Given the description of an element on the screen output the (x, y) to click on. 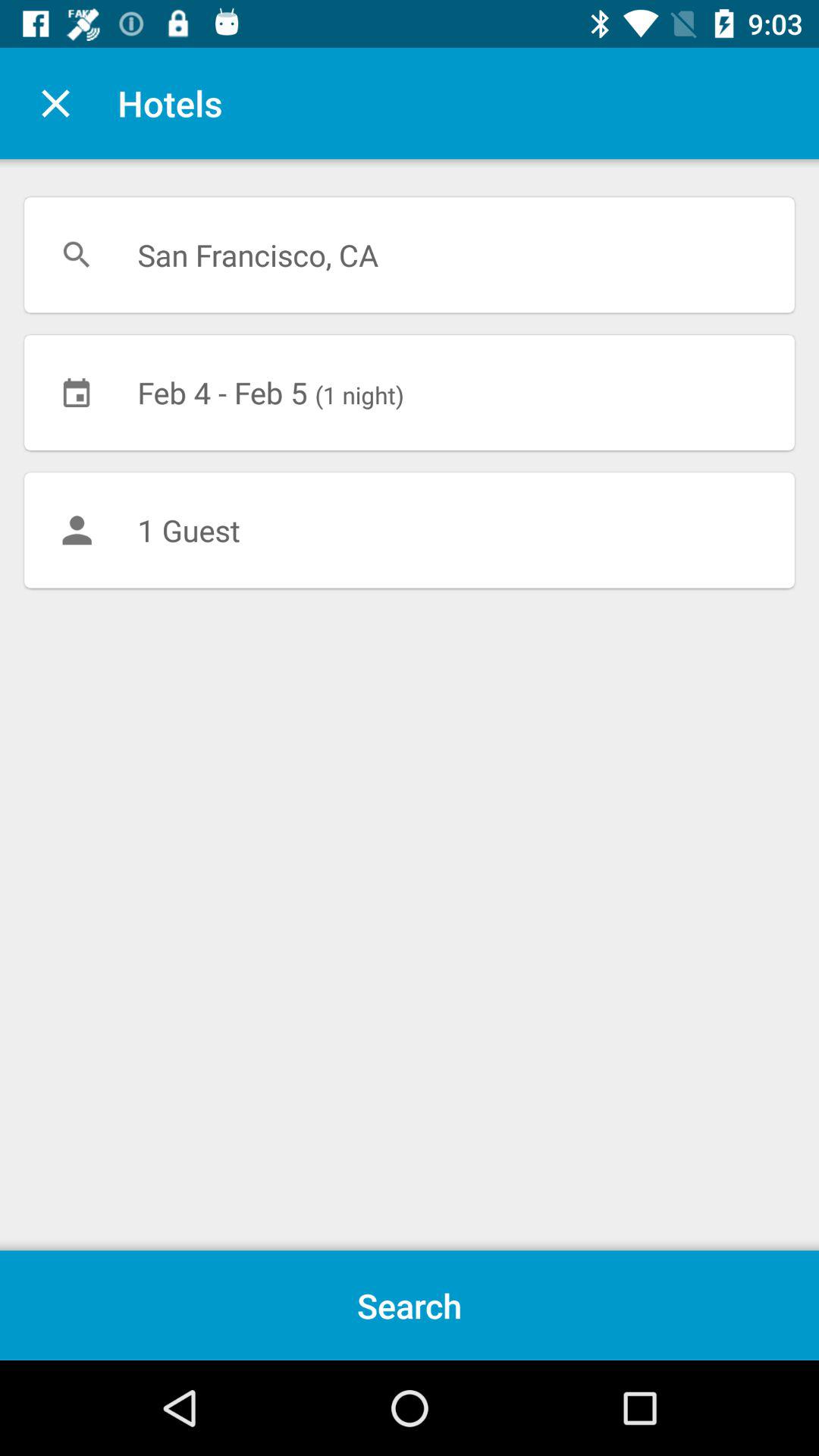
launch the icon below the feb 4 feb item (409, 530)
